Given the description of an element on the screen output the (x, y) to click on. 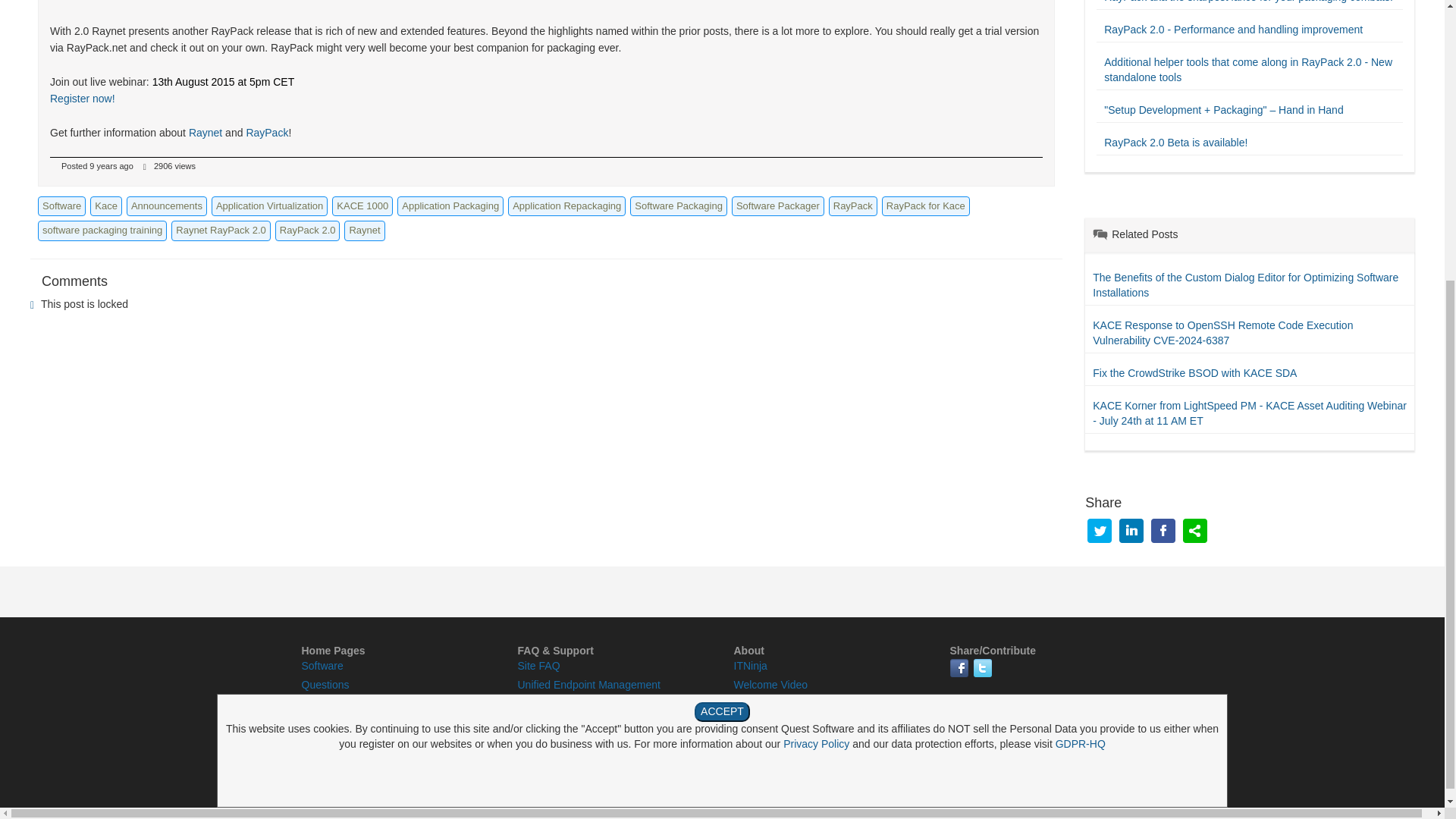
Application Packaging (450, 206)
RayPack 2.0 (307, 230)
RayPack (852, 206)
Software Packager (778, 206)
Application Virtualization (269, 206)
Raynet (205, 132)
RayPack for Kace (925, 206)
Software (61, 206)
Register now! (82, 98)
RayPack (267, 132)
